Given the description of an element on the screen output the (x, y) to click on. 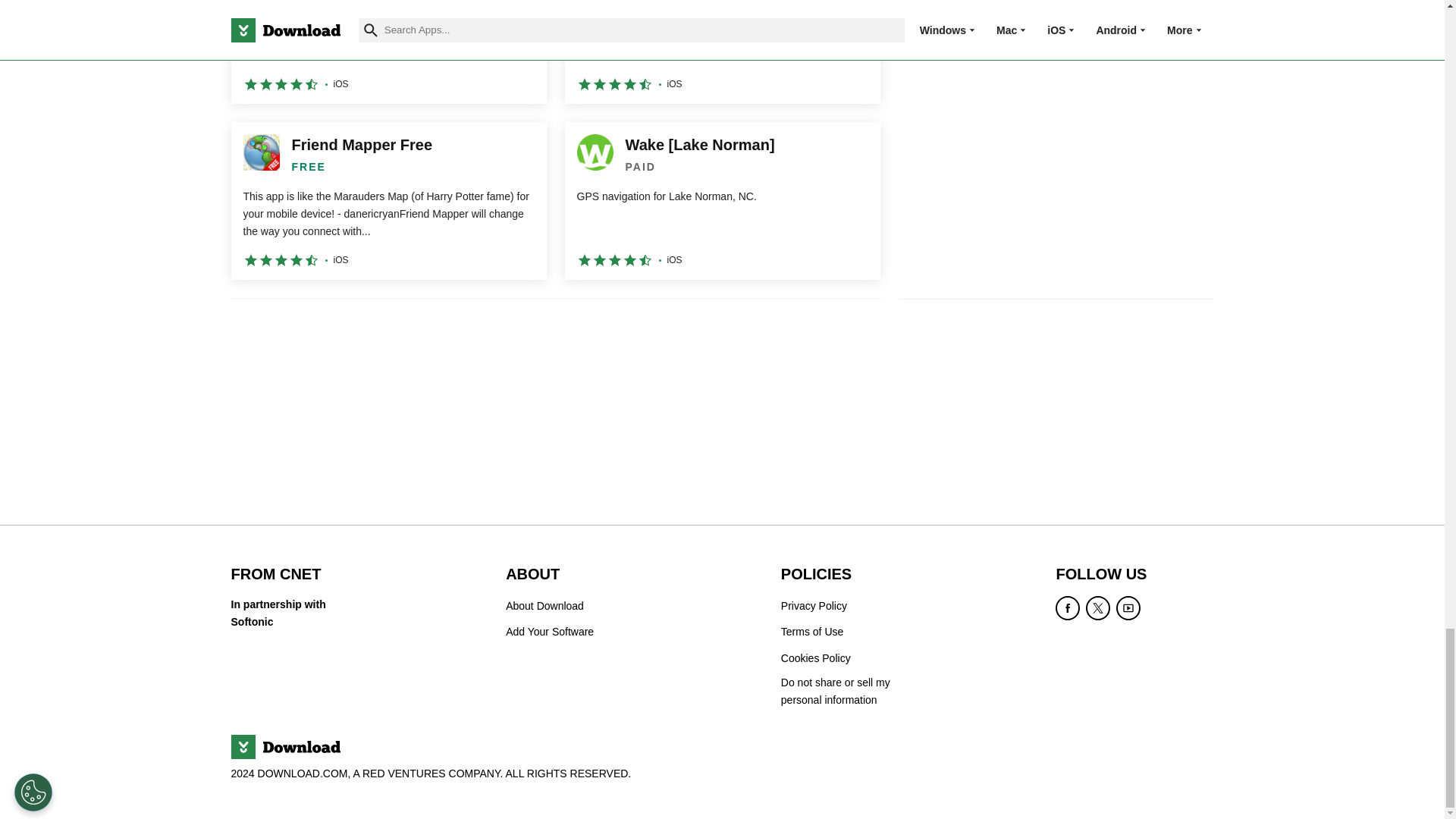
Become a Facebook fan of Download.com (1067, 607)
Friend Mapper Free (388, 201)
Download.com (284, 746)
Dishaank (388, 51)
